Given the description of an element on the screen output the (x, y) to click on. 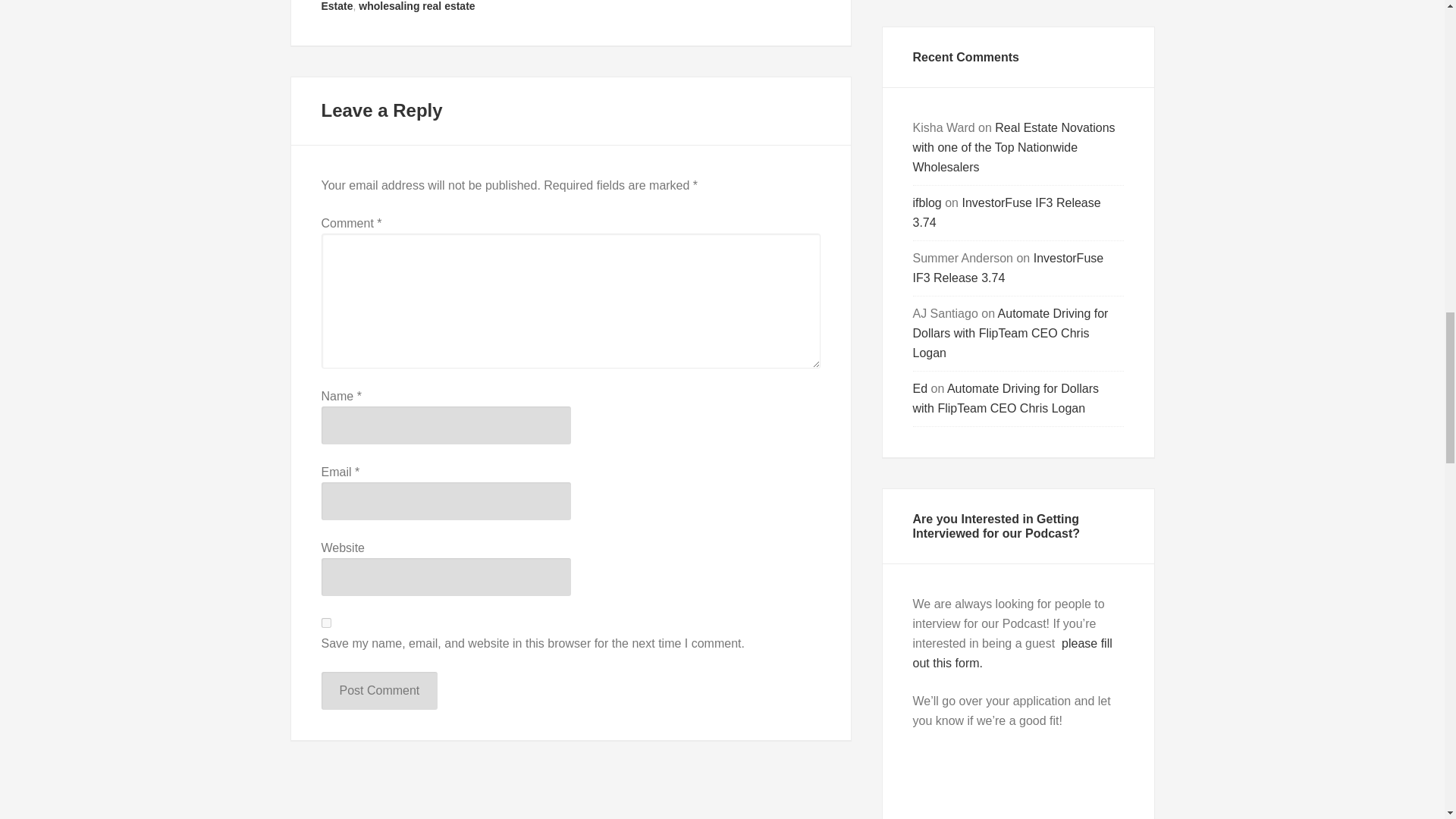
Post Comment (379, 690)
Automate Driving for Dollars with FlipTeam CEO Chris Logan (1010, 333)
Texas Real Estate (569, 6)
Automate Driving for Dollars with FlipTeam CEO Chris Logan (1005, 398)
ifblog (927, 202)
InvestorFuse IF3 Release 3.74 (1006, 212)
InvestorFuse IF3 Release 3.74 (1007, 267)
wholesaling real estate (416, 6)
Ed (920, 388)
